Given the description of an element on the screen output the (x, y) to click on. 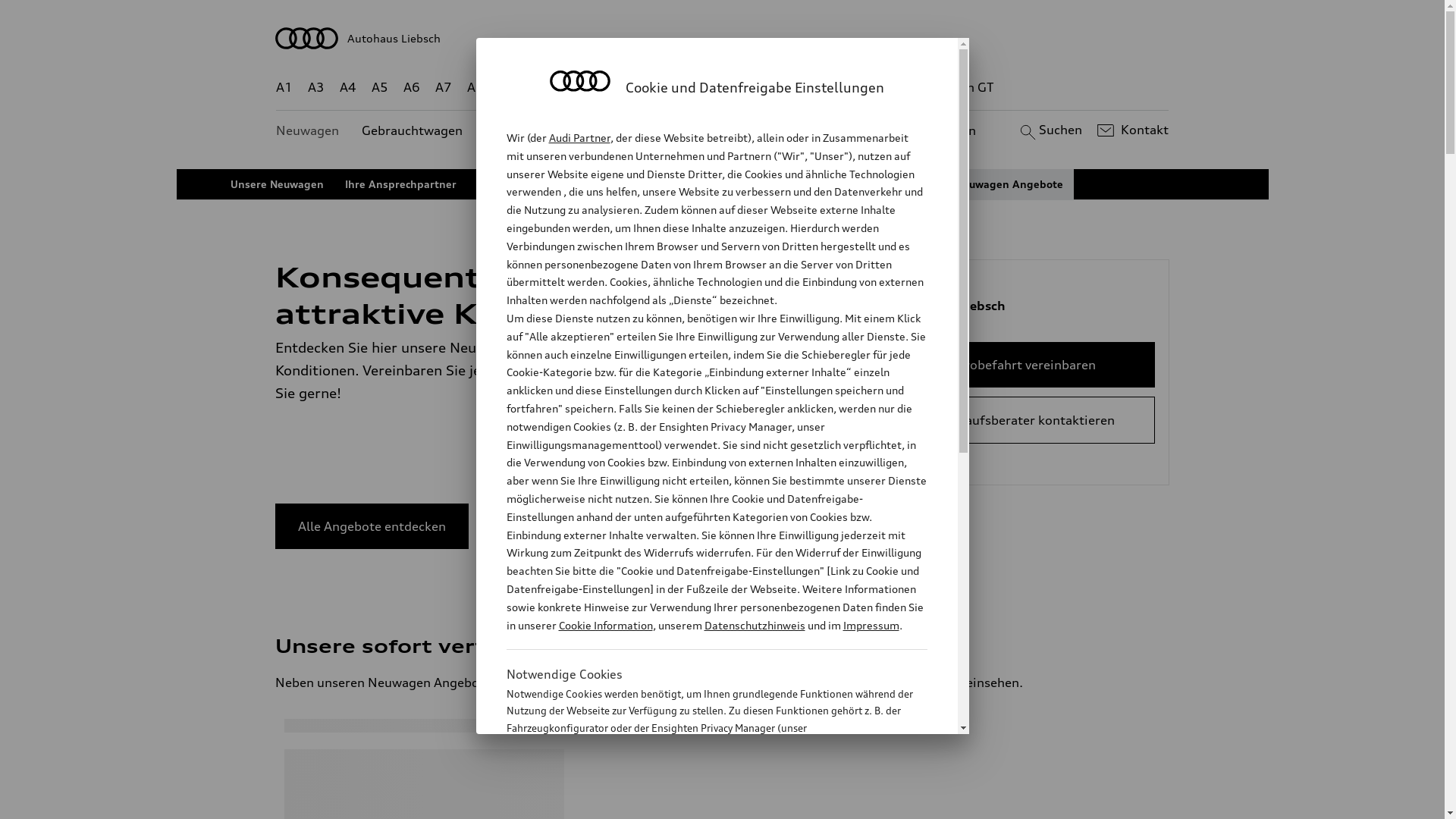
A7 Element type: text (443, 87)
A8 Element type: text (475, 87)
e-tron GT Element type: text (965, 87)
Unsere Neuwagen Angebote Element type: text (989, 184)
A4 Element type: text (347, 87)
Cookie Information Element type: text (700, 802)
TT Element type: text (814, 87)
Gebrauchtwagen Element type: text (411, 130)
A5 Element type: text (379, 87)
Ihre Ansprechpartner Element type: text (400, 184)
Verkaufsberater kontaktieren Element type: text (1025, 419)
Datenschutzhinweis Element type: text (753, 624)
Q3 Element type: text (540, 87)
Alle Angebote entdecken Element type: text (371, 526)
g-tron Element type: text (903, 87)
Probefahrt vereinbaren Element type: text (1025, 364)
Audi RS-Modelle Element type: text (852, 184)
Q8 Element type: text (710, 87)
Q5 Element type: text (645, 87)
Impressum Element type: text (871, 624)
A3 Element type: text (315, 87)
Cookie Information Element type: text (605, 624)
Unsere Neuwagen Element type: text (276, 184)
Audi Partner Element type: text (579, 137)
A1 Element type: text (284, 87)
Audi Erlebnis Abholung Element type: text (539, 184)
A6 Element type: text (411, 87)
Q2 Element type: text (507, 87)
Angebote Element type: text (636, 130)
Suchen Element type: text (1049, 130)
Audi Versicherung - Probemonat Element type: text (705, 184)
Neuwagen Element type: text (307, 130)
Q7 Element type: text (678, 87)
RS Element type: text (861, 87)
Q8 e-tron Element type: text (763, 87)
Kundenservice Element type: text (730, 130)
Kontakt Element type: text (1130, 130)
Q4 e-tron Element type: text (592, 87)
Autohaus Liebsch Element type: text (722, 38)
